Given the description of an element on the screen output the (x, y) to click on. 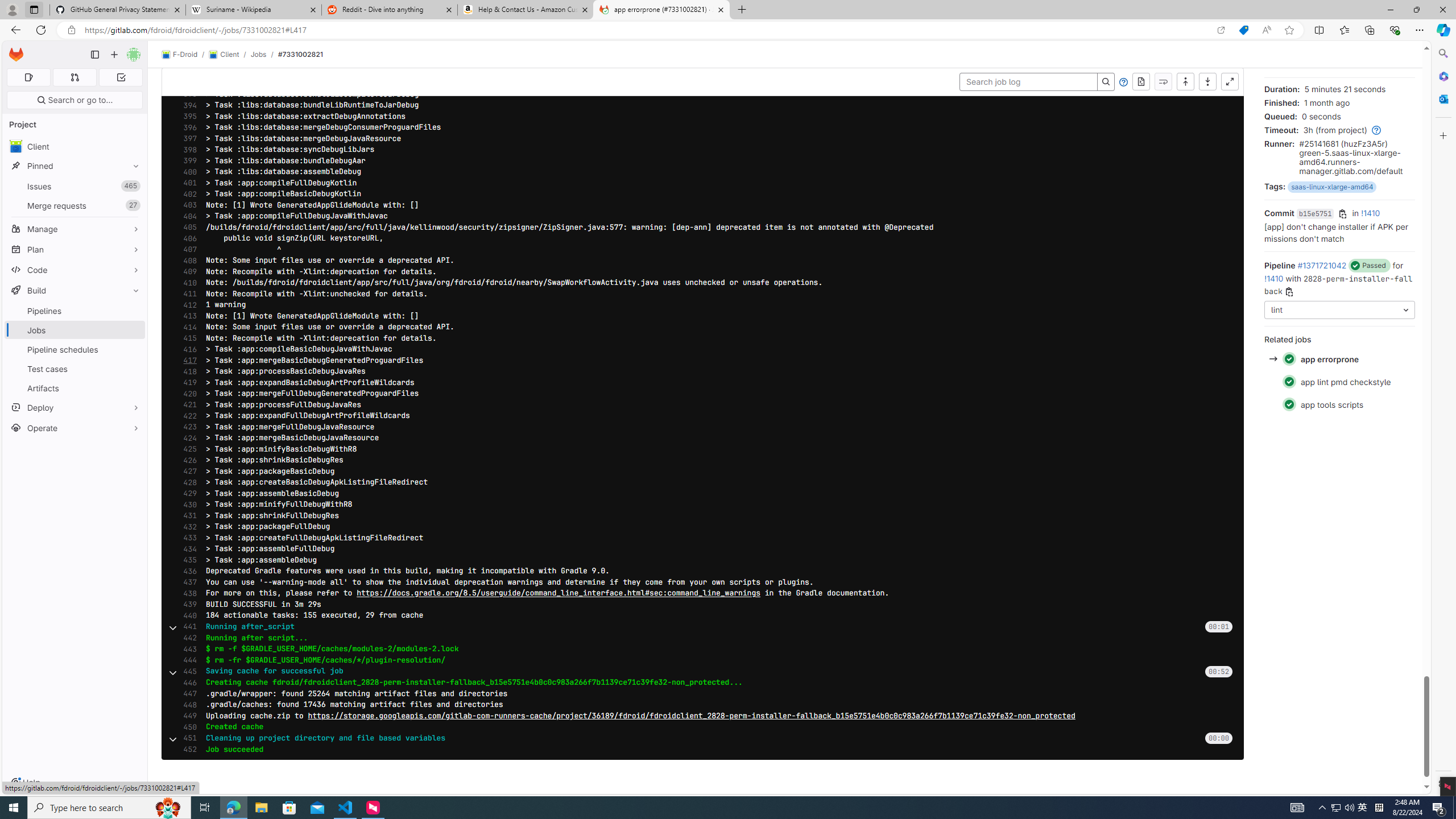
441 Running after_script 00:01 (702, 626)
Artifacts (74, 387)
412 (186, 304)
GitHub General Privacy Statement - GitHub Docs (117, 9)
b15e5751 (1314, 213)
390 (186, 60)
427 (186, 471)
Build (74, 289)
Pipelines (74, 310)
394 (186, 105)
417 (186, 360)
421 (186, 404)
Open in app (1220, 29)
426 (186, 460)
